Given the description of an element on the screen output the (x, y) to click on. 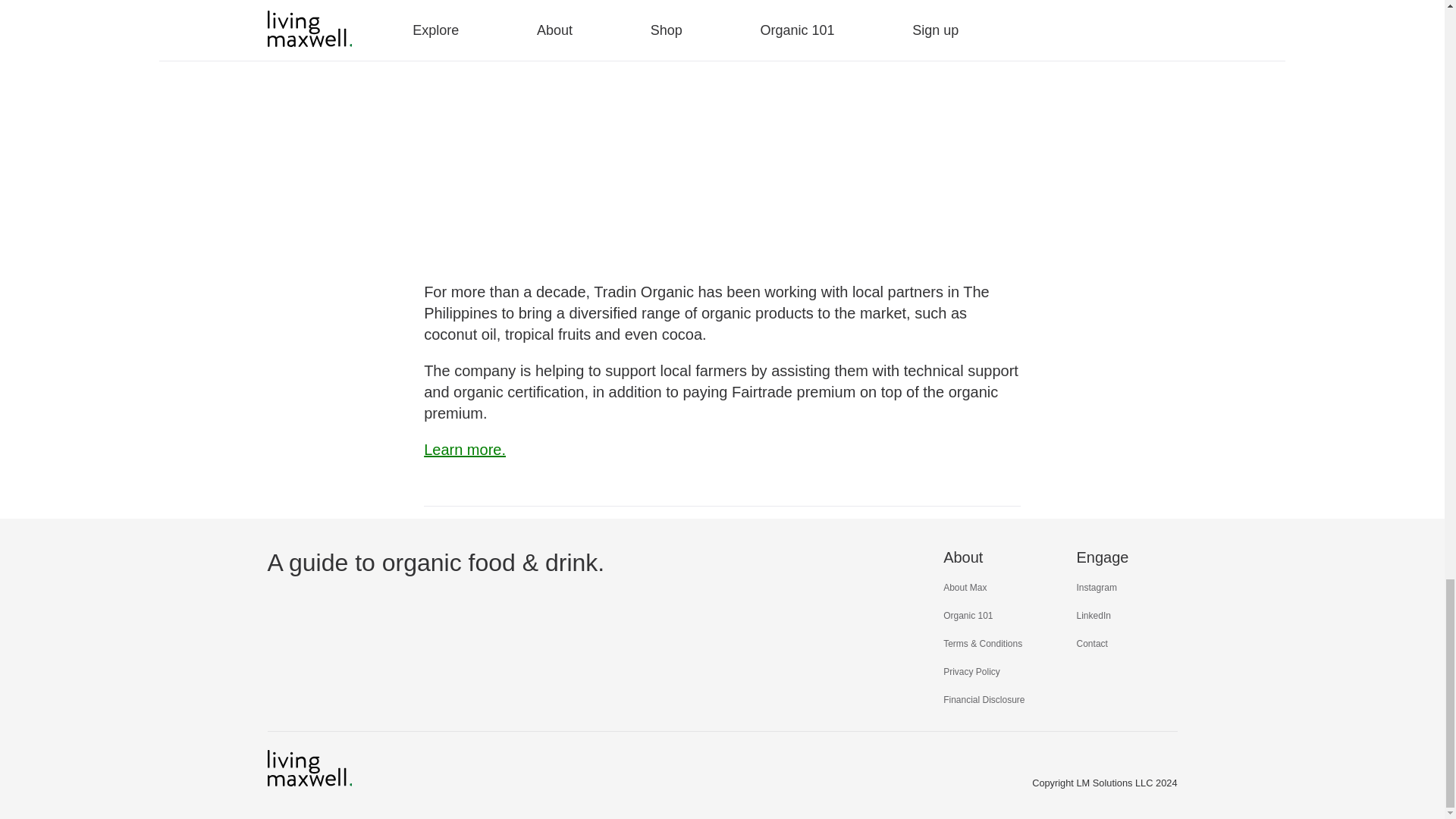
Financial Disclosure (984, 699)
Contact (1092, 643)
Learn more. (464, 449)
Organic 101 (967, 615)
About Max (965, 587)
Privacy Policy (971, 671)
Instagram (1096, 587)
LinkedIn (1093, 615)
